Given the description of an element on the screen output the (x, y) to click on. 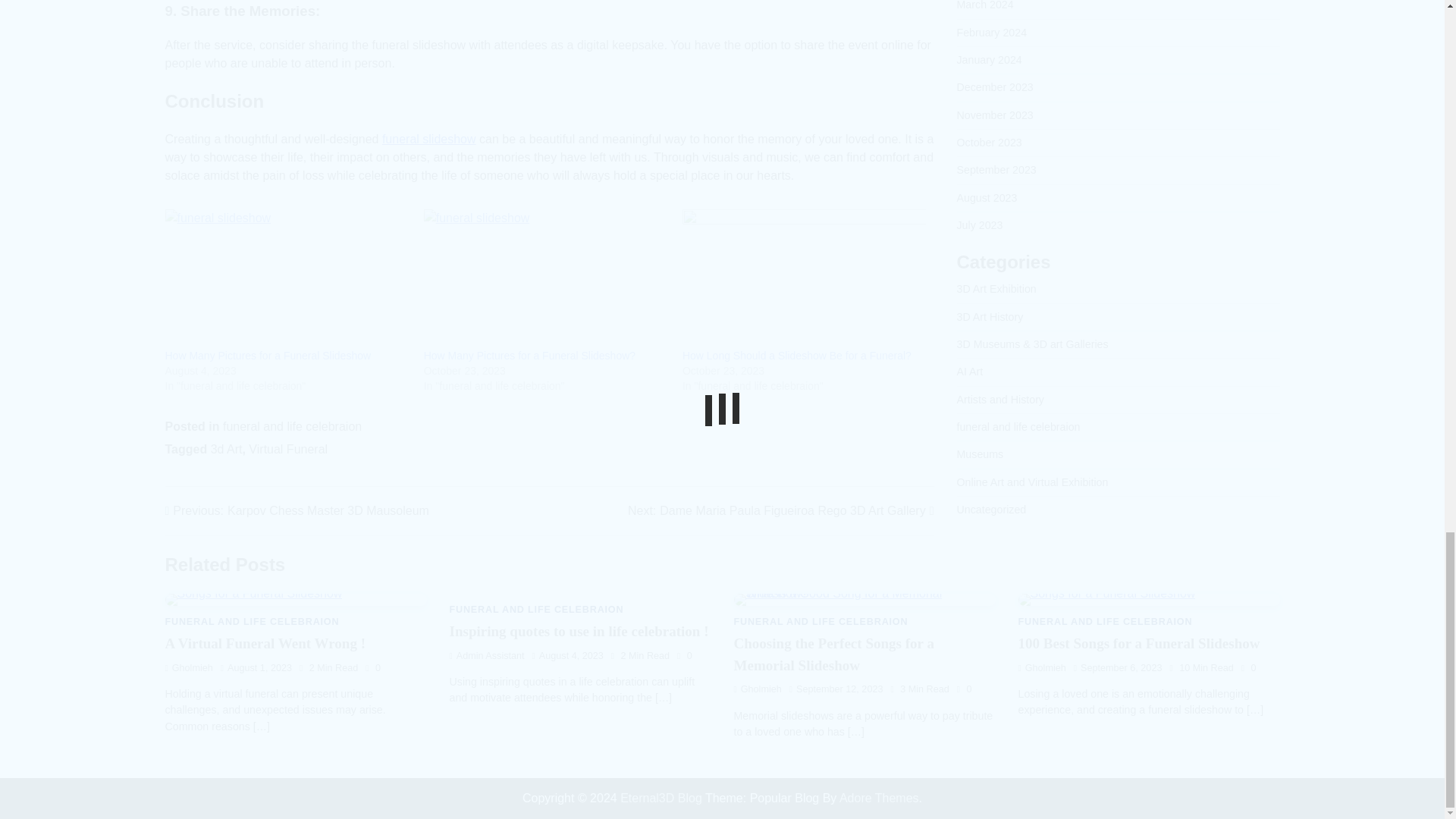
3d Art (227, 449)
How Many Pictures for a Funeral Slideshow (287, 278)
How Long Should a Slideshow Be for a Funeral? (796, 355)
How Many Pictures for a Funeral Slideshow? (528, 355)
How Many Pictures for a Funeral Slideshow? (544, 278)
How Many Pictures for a Funeral Slideshow (297, 511)
How Many Pictures for a Funeral Slideshow (268, 355)
How Long Should a Slideshow Be for a Funeral? (268, 355)
